Given the description of an element on the screen output the (x, y) to click on. 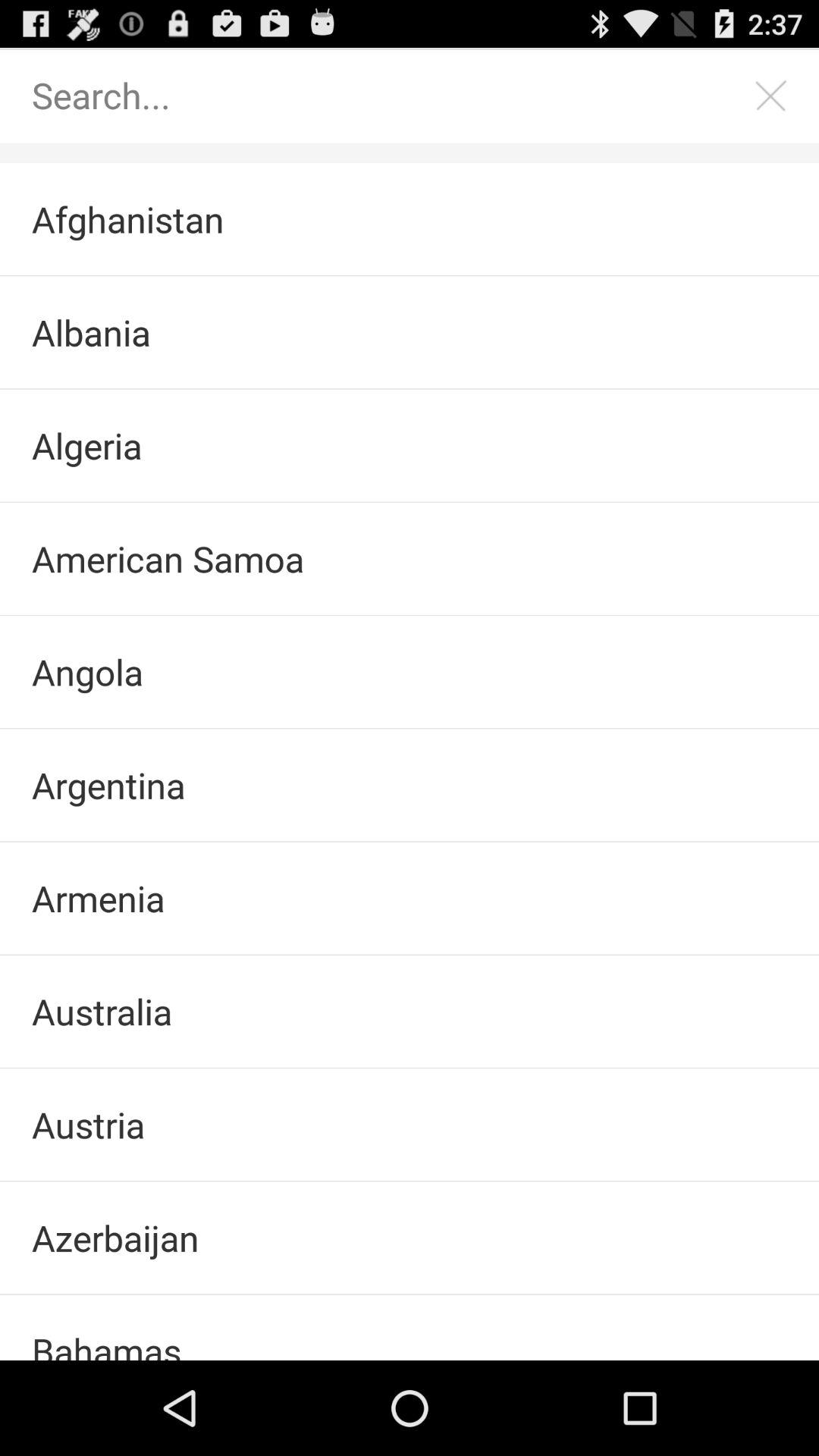
jump until australia icon (409, 1011)
